Given the description of an element on the screen output the (x, y) to click on. 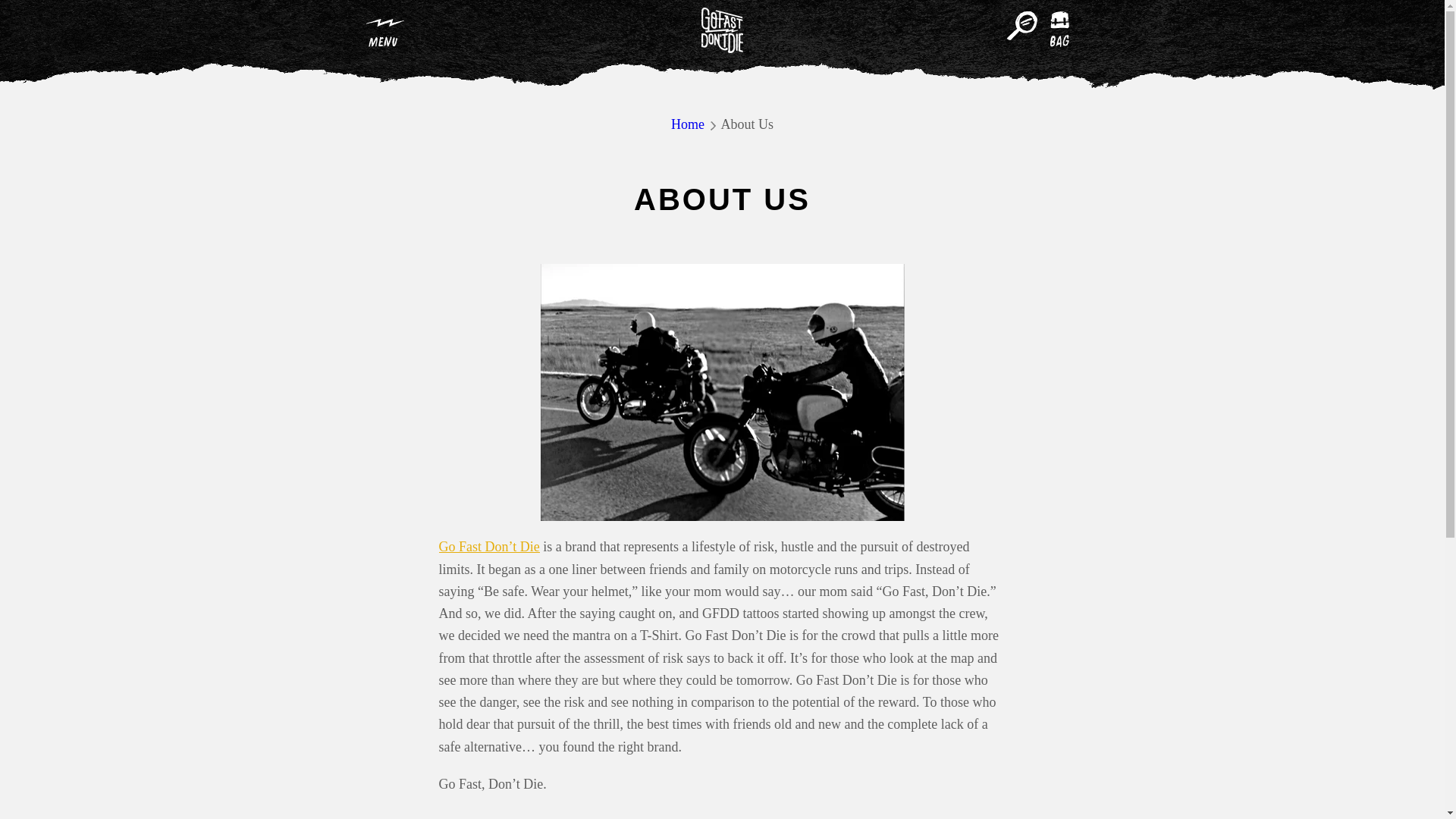
MENU (384, 30)
